Given the description of an element on the screen output the (x, y) to click on. 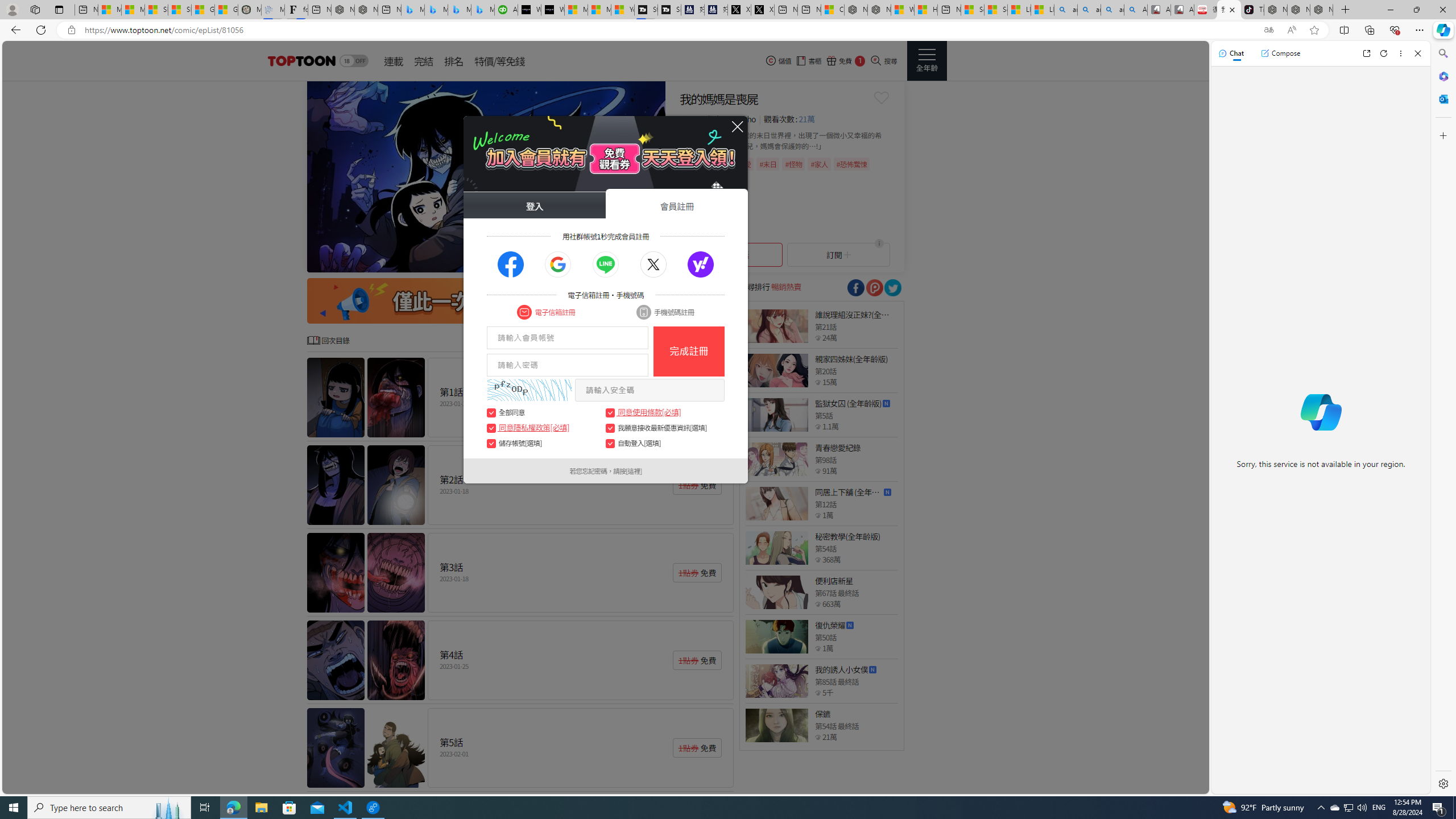
Outlook (1442, 98)
Amazon Echo Robot - Search Images (1135, 9)
Customize (1442, 135)
Go to slide 2 (579, 261)
Nordace - Summer Adventures 2024 (879, 9)
Nordace - #1 Japanese Best-Seller - Siena Smart Backpack (365, 9)
Class:  switch_18mode actionAdultBtn (353, 60)
